Given the description of an element on the screen output the (x, y) to click on. 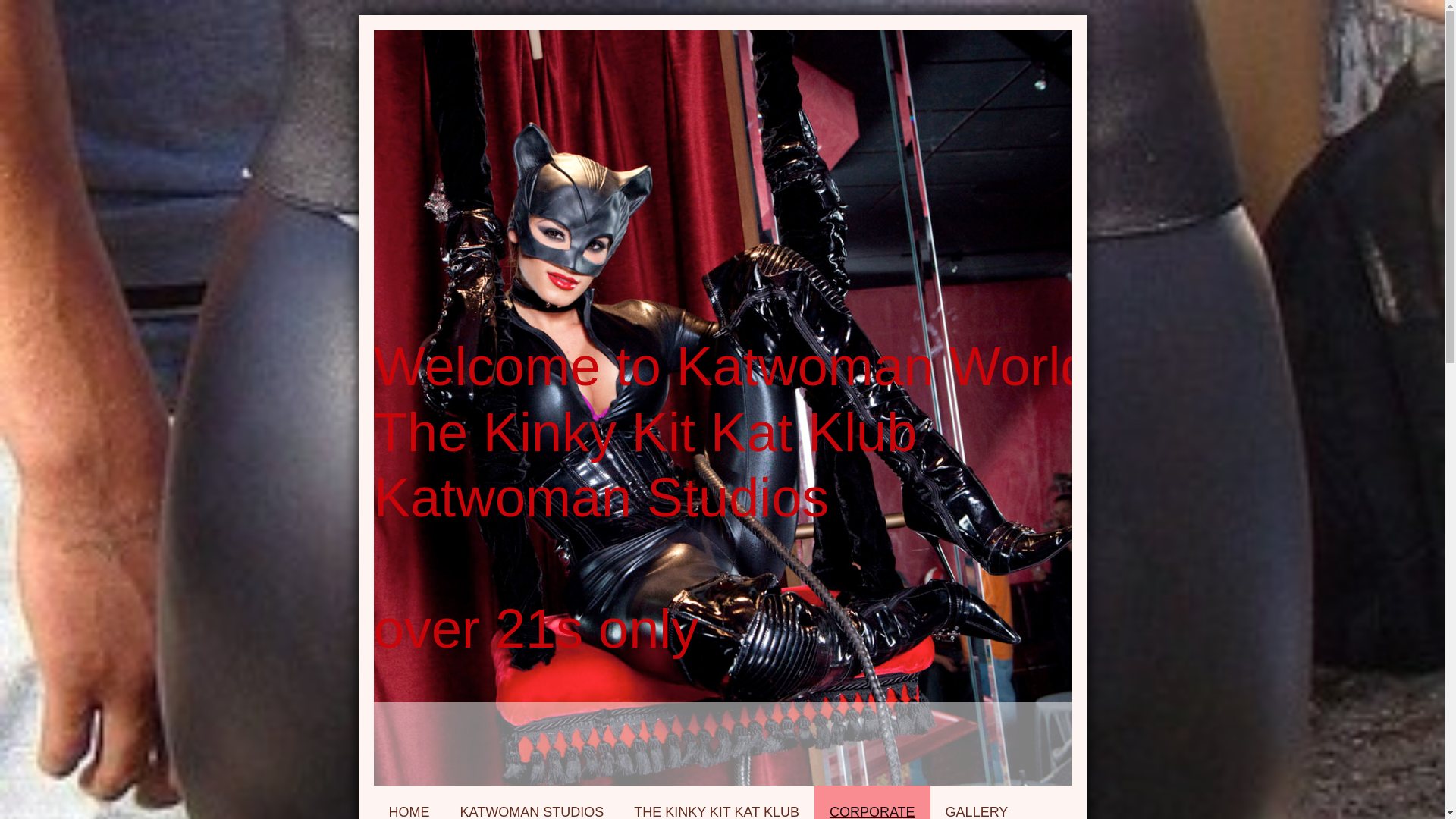
GALLERY (976, 802)
THE KINKY KIT KAT KLUB (715, 802)
KATWOMAN STUDIOS (531, 802)
HOME (408, 802)
CORPORATE (871, 802)
